Given the description of an element on the screen output the (x, y) to click on. 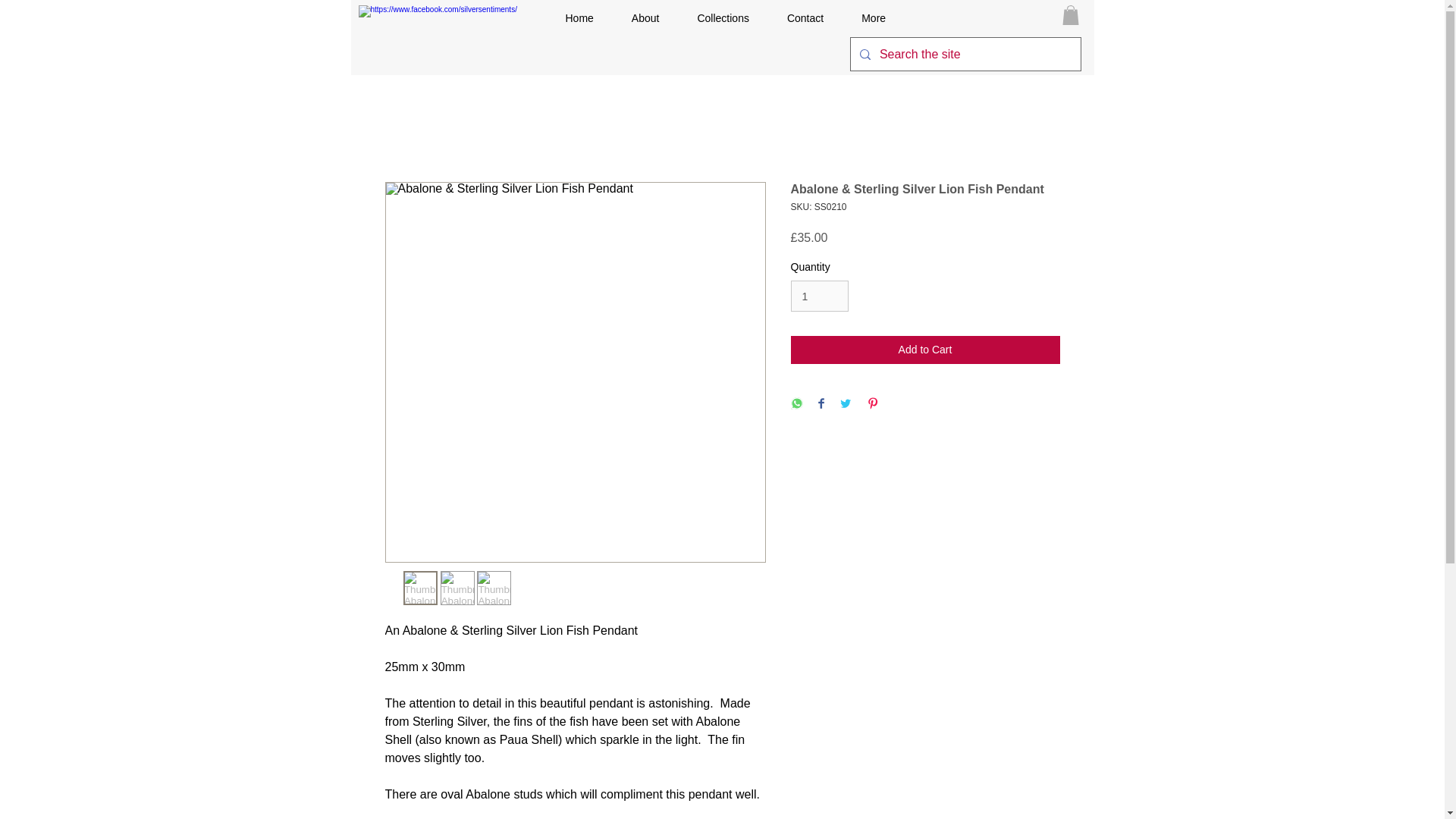
Add to Cart (924, 349)
Collections (722, 21)
Home (578, 21)
About (645, 21)
Contact (805, 21)
1 (818, 296)
